Given the description of an element on the screen output the (x, y) to click on. 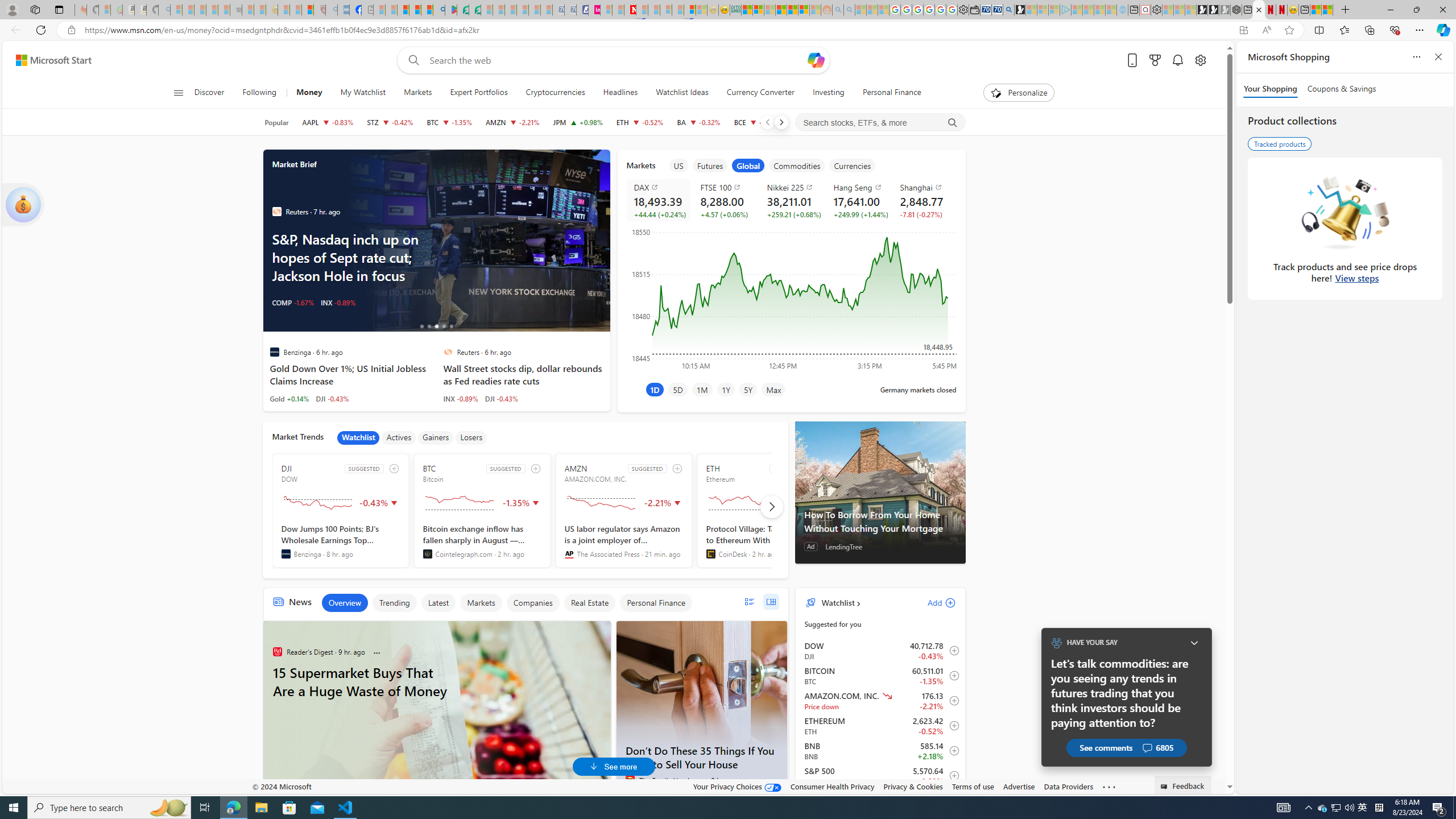
Benzinga (286, 553)
Max (773, 389)
Cheap Hotels - Save70.com - Sleeping (569, 9)
DJI SUGGESTED DOW (340, 510)
Reuters (447, 351)
5Y (747, 389)
To get missing image descriptions, open the context menu. (995, 92)
1M (701, 389)
Combat Siege (236, 9)
